Given the description of an element on the screen output the (x, y) to click on. 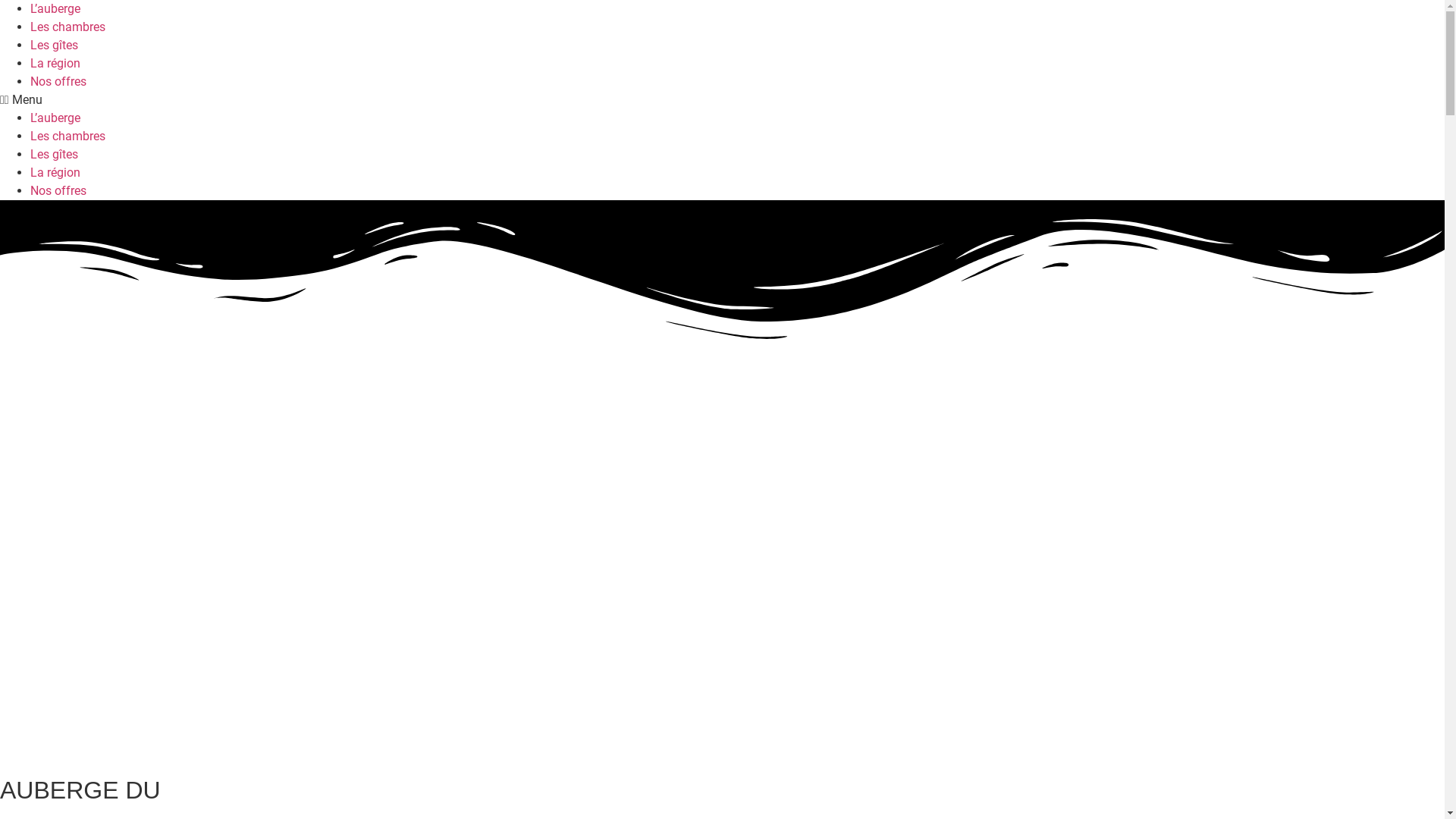
Nos offres Element type: text (58, 190)
Nos offres Element type: text (58, 81)
Les chambres Element type: text (67, 26)
Les chambres Element type: text (67, 135)
